Given the description of an element on the screen output the (x, y) to click on. 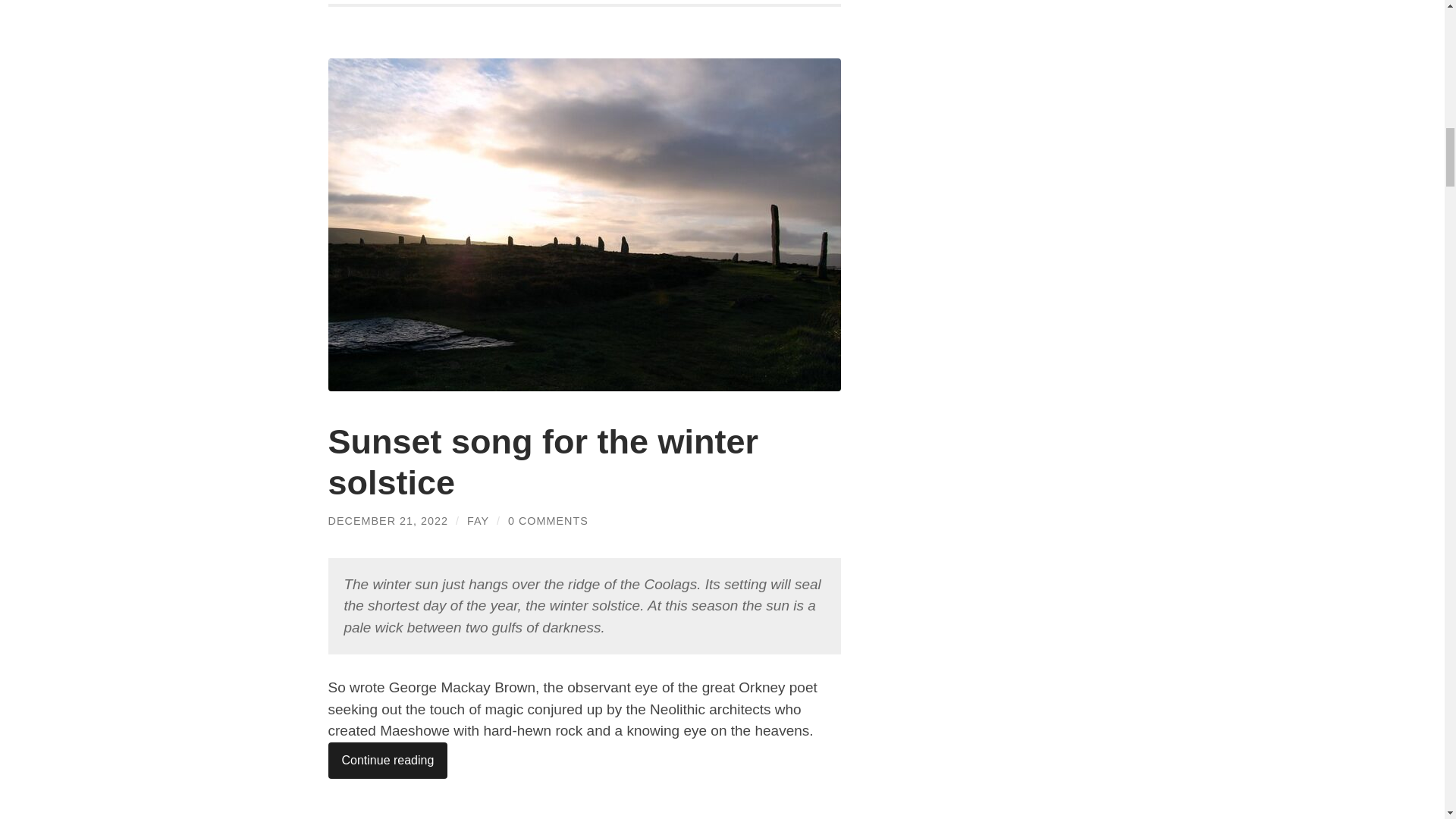
Sunset song for the winter solstice (542, 462)
FAY (478, 521)
Posts by fay (478, 521)
DECEMBER 21, 2022 (387, 521)
